Given the description of an element on the screen output the (x, y) to click on. 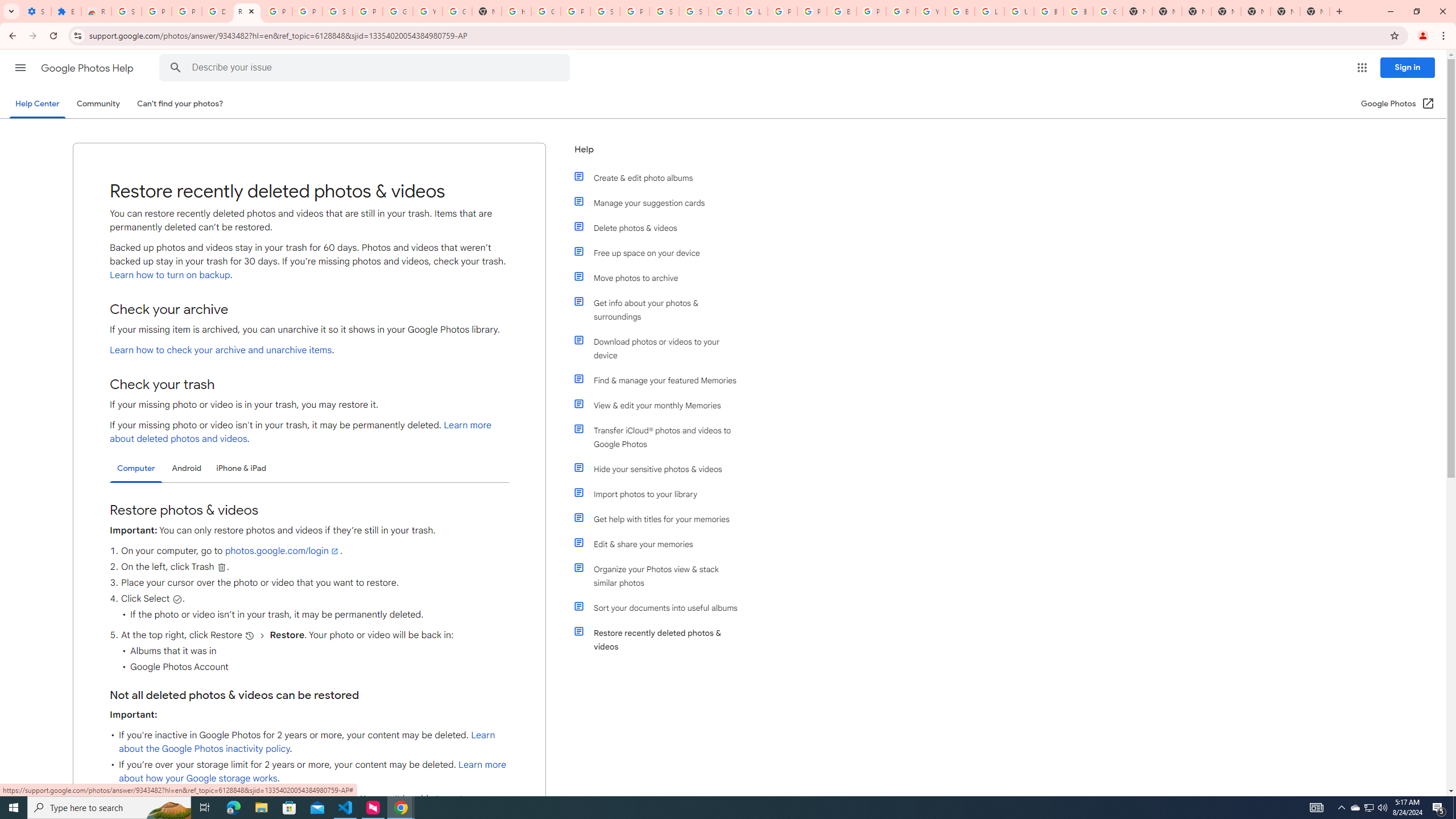
Google Account (397, 11)
Hide your sensitive photos & videos (661, 469)
Learn how to turn on backup (169, 274)
Select (176, 598)
Free up space on your device (661, 252)
Close (251, 11)
Restore (1416, 11)
Google apps (1362, 67)
YouTube (426, 11)
Help Center (36, 103)
Search tabs (10, 11)
Get info about your photos & surroundings (661, 309)
